Given the description of an element on the screen output the (x, y) to click on. 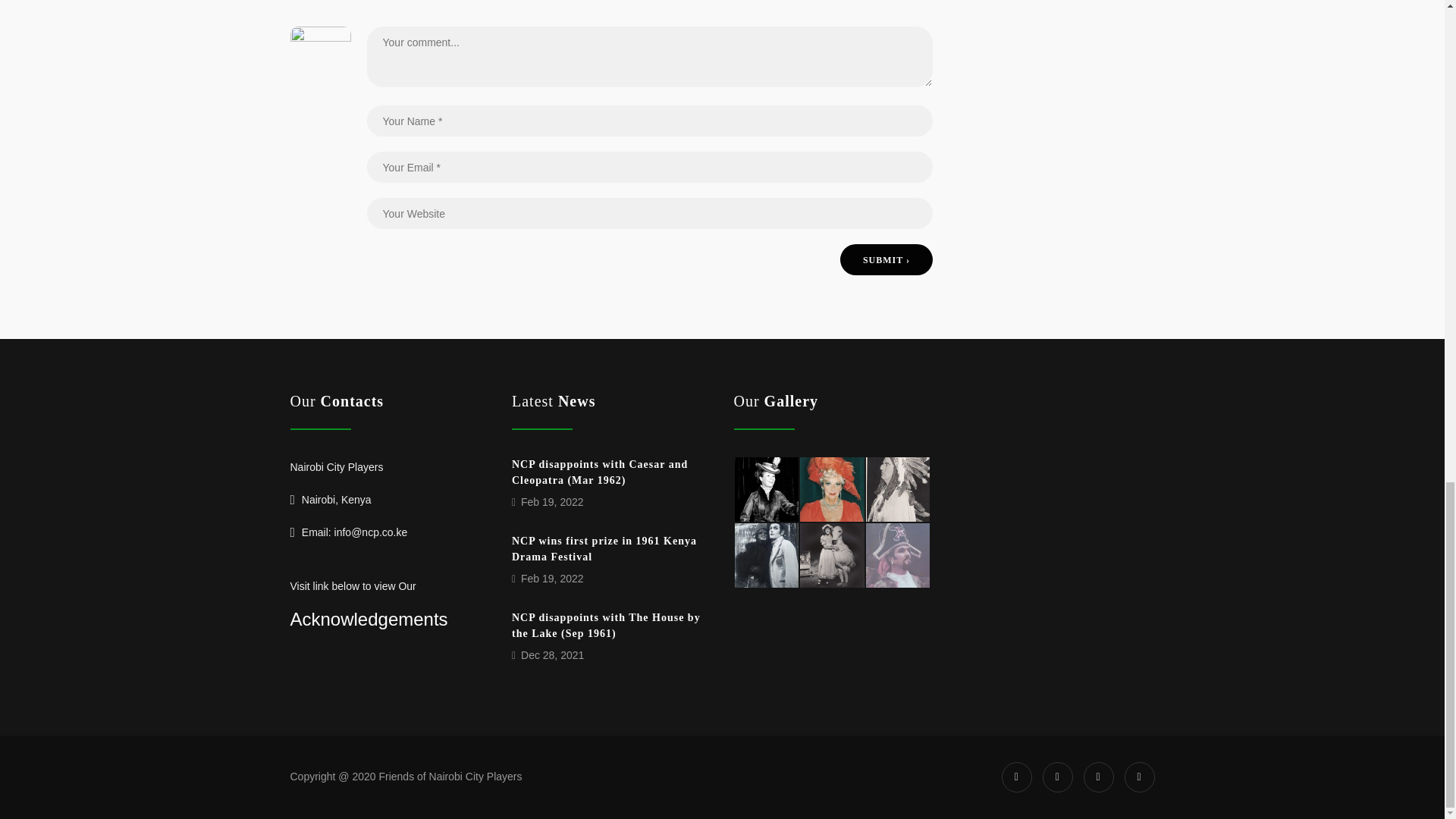
NCP wins first prize in 1961 Kenya Drama Festival (604, 548)
Acknowledgements (367, 619)
NCP wins first prize in 1961 Kenya Drama Festival (604, 548)
